Given the description of an element on the screen output the (x, y) to click on. 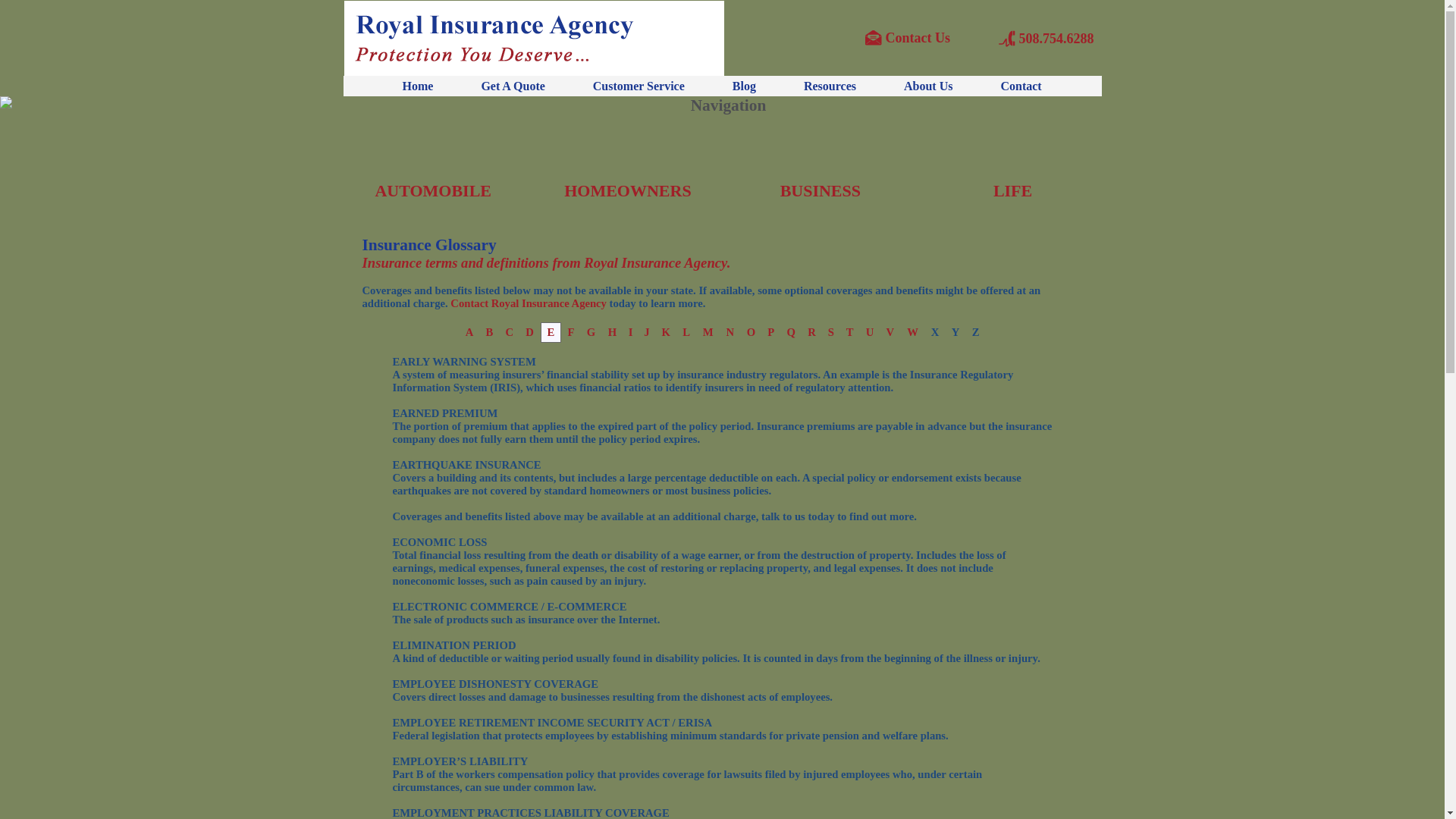
Get A Quote (513, 86)
Contact Us (917, 37)
Home (418, 86)
Customer Service (639, 86)
